Given the description of an element on the screen output the (x, y) to click on. 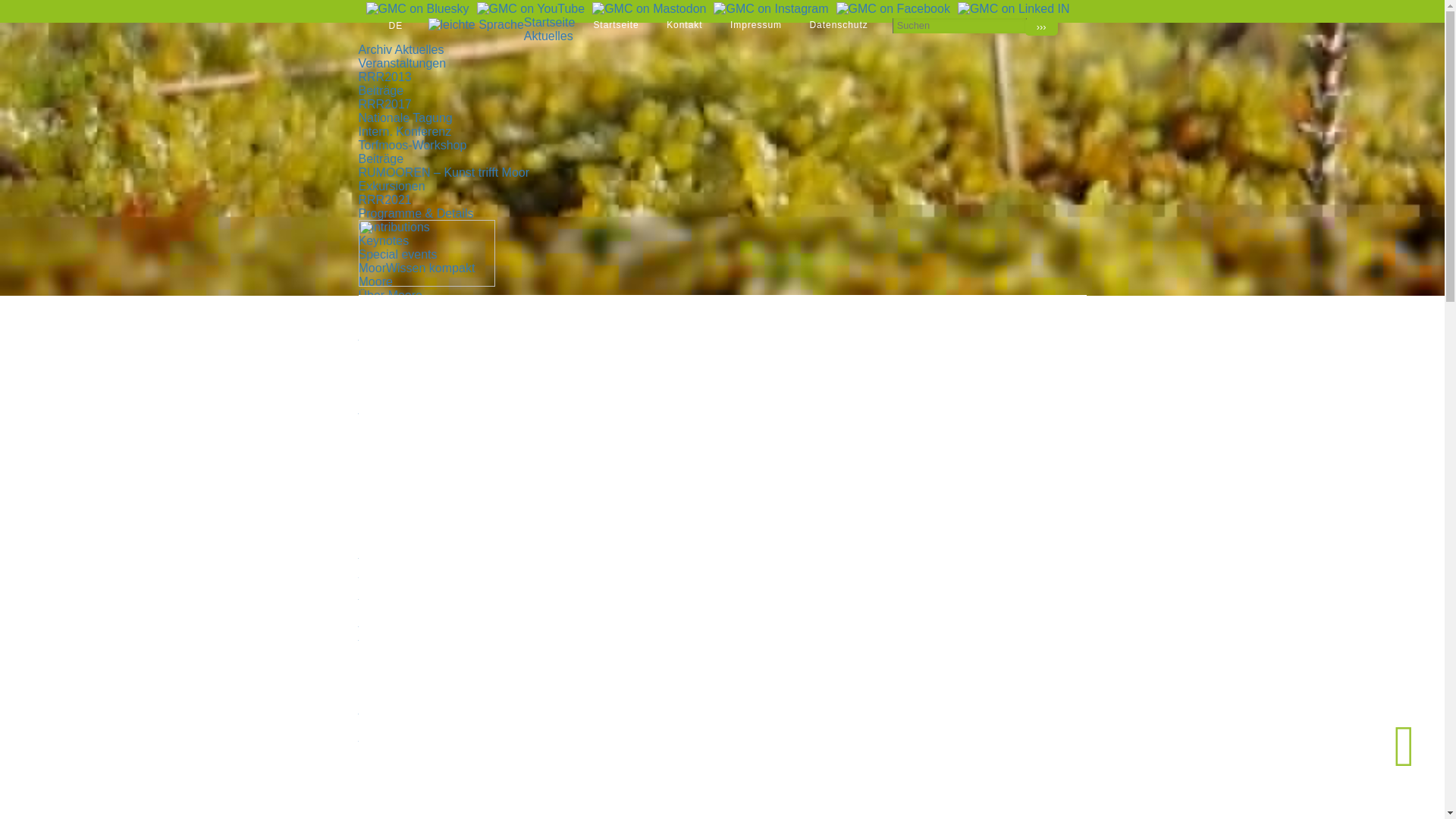
Datenschutz (838, 24)
Moore (374, 281)
Startseite (615, 24)
GMC on Facebook (892, 8)
GMC on Linked IN (1014, 7)
Kontakt (683, 24)
Impressum (755, 24)
Special events (397, 254)
GMC on Bluesky (416, 7)
Startseite (615, 24)
GMC on Facebook (892, 7)
Arten der Nutzung (407, 336)
Exkursionen (391, 185)
Contributions (393, 226)
GMC on Bluesky (416, 8)
